Given the description of an element on the screen output the (x, y) to click on. 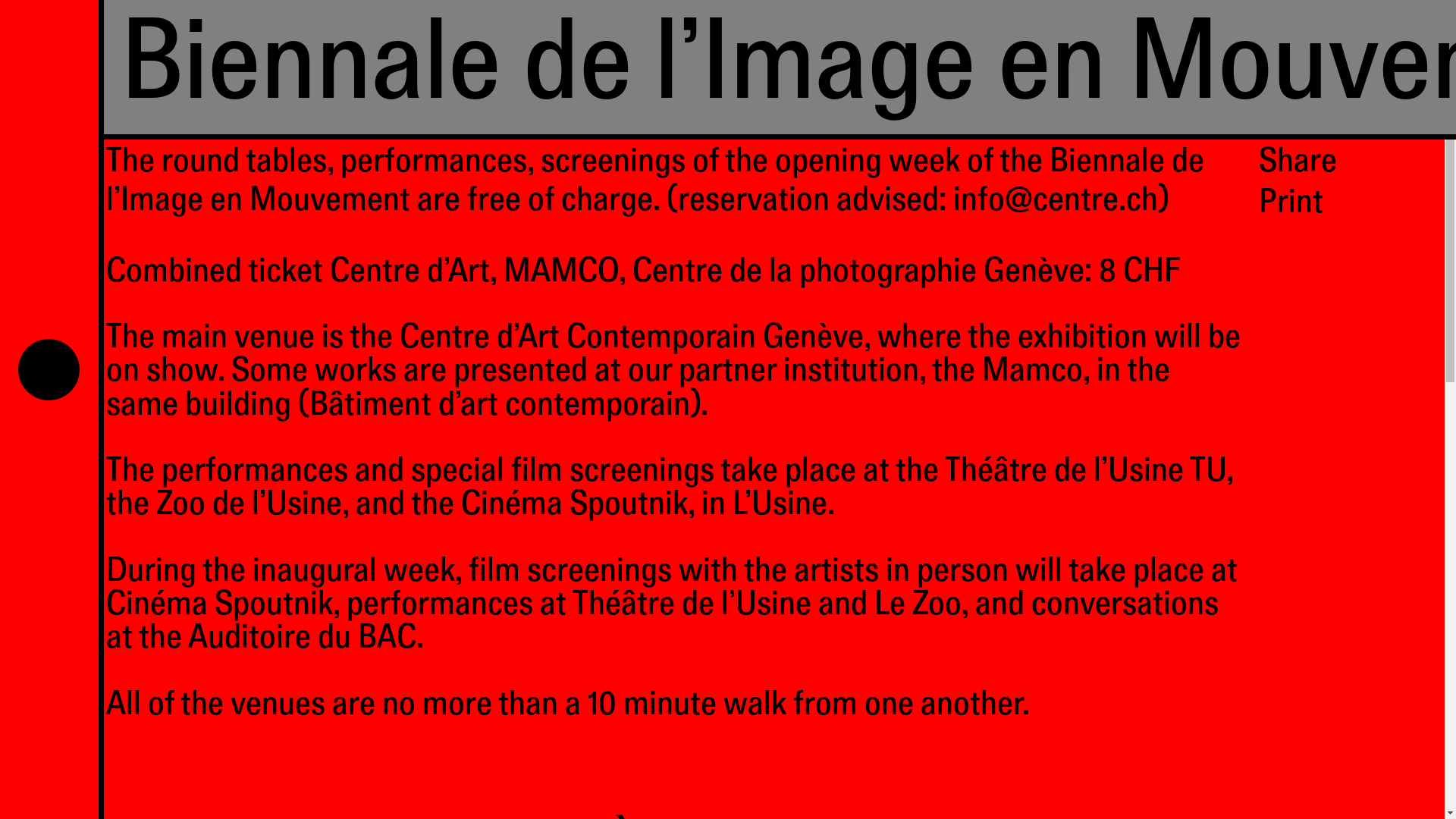
info@centre.ch Element type: text (1055, 203)
